Given the description of an element on the screen output the (x, y) to click on. 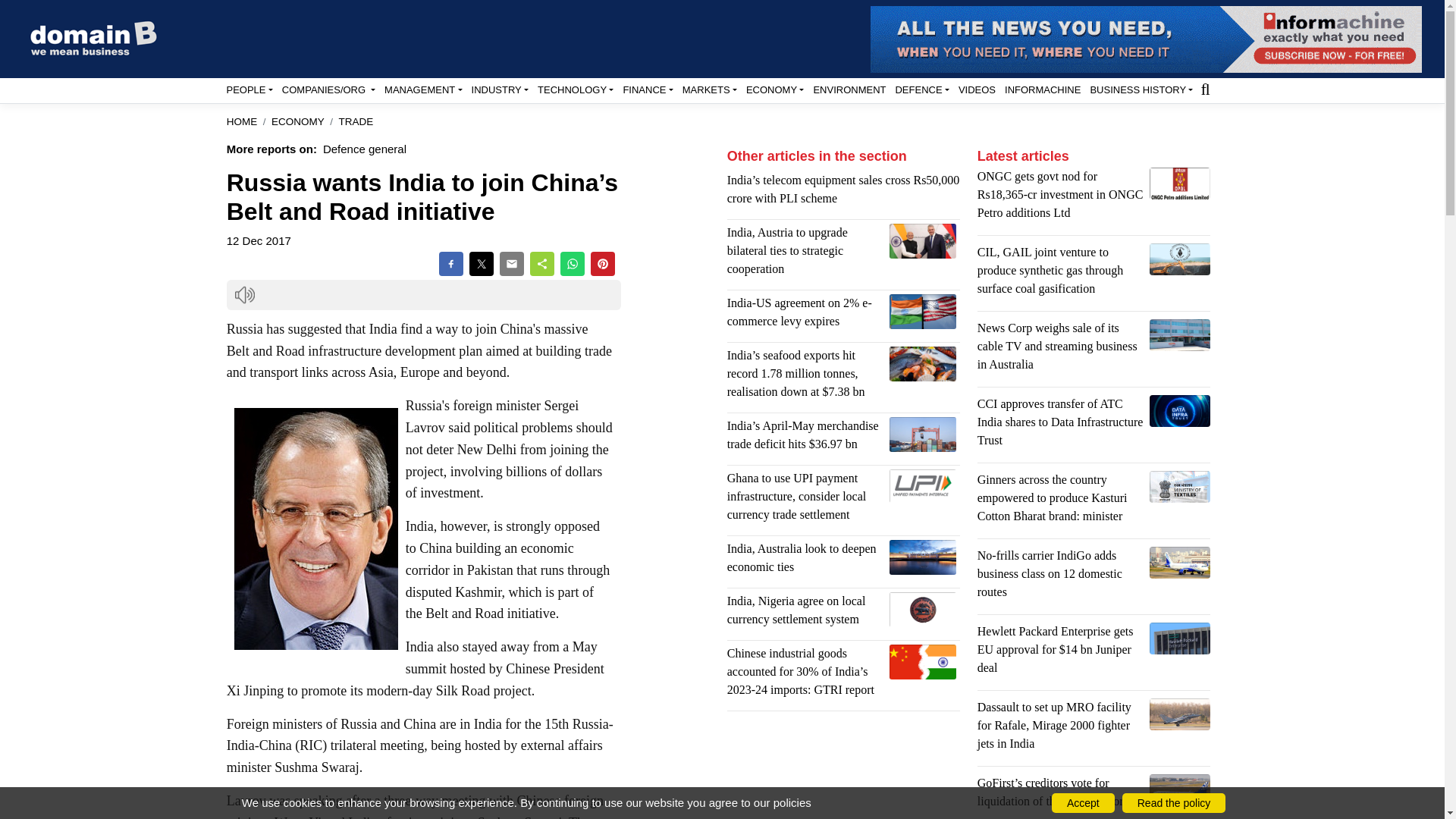
PEOPLE (248, 89)
Advertisement (843, 770)
Click here to listen (244, 294)
India, Nigeria agree on local currency settlement system (922, 609)
India, Australia look to deepen economic ties (922, 556)
